Given the description of an element on the screen output the (x, y) to click on. 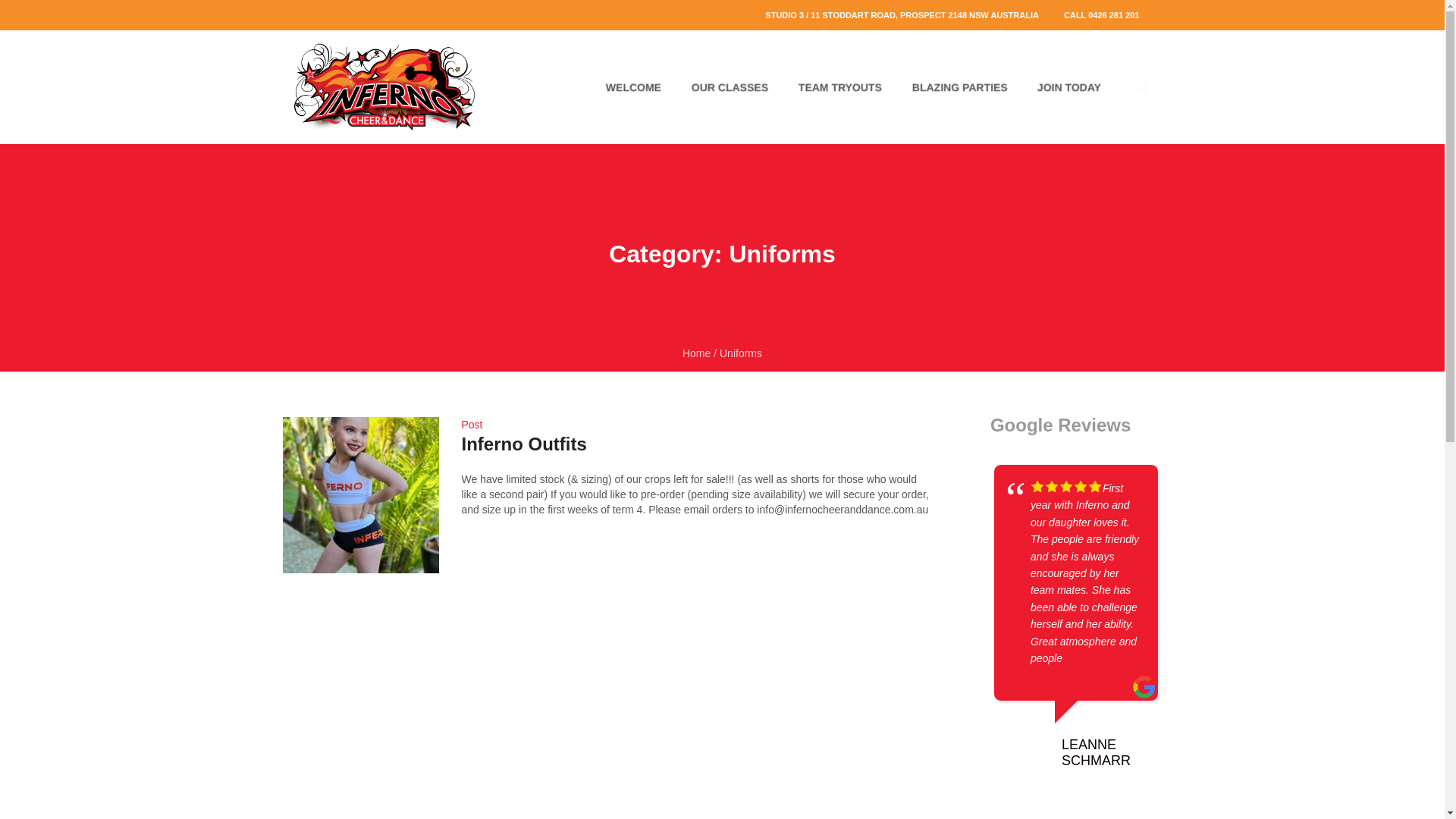
Home Element type: text (696, 353)
KODA Element type: text (916, 757)
Inferno Outfits Element type: hover (360, 495)
ABOUT Element type: text (617, 648)
FAQ Element type: text (693, 648)
CONTACT Element type: text (881, 648)
Uniforms Element type: text (740, 353)
Inferno Cheer & Dance Element type: hover (721, 419)
STUDIO 3 / 11 STODDART ROAD, PROSPECT 2148 NSW AUSTRALIA Element type: text (901, 14)
NEWS Element type: text (728, 648)
Inferno Outfits Element type: text (523, 443)
Inferno Cheer & Dance Youtube Element type: hover (663, 706)
JOIN TODAY Element type: text (1066, 86)
TRIAL Element type: text (659, 648)
Privacy Element type: text (527, 757)
WELCOME Element type: text (564, 648)
Soho's Element type: hover (786, 706)
TEAM TRYOUTS Element type: text (837, 86)
WELCOME Element type: text (630, 86)
PARTIES Element type: text (774, 648)
Inferno Cheer & Dance Element type: hover (384, 87)
Inferno Cheer & Dance Facebook Element type: hover (704, 706)
BLAZING PARTIES Element type: text (956, 86)
CAREER Element type: text (826, 648)
CALL 0426 281 201 Element type: text (1101, 14)
Inferno Cheer & Dance Instagram Element type: hover (745, 706)
OUR CLASSES Element type: text (726, 86)
